Given the description of an element on the screen output the (x, y) to click on. 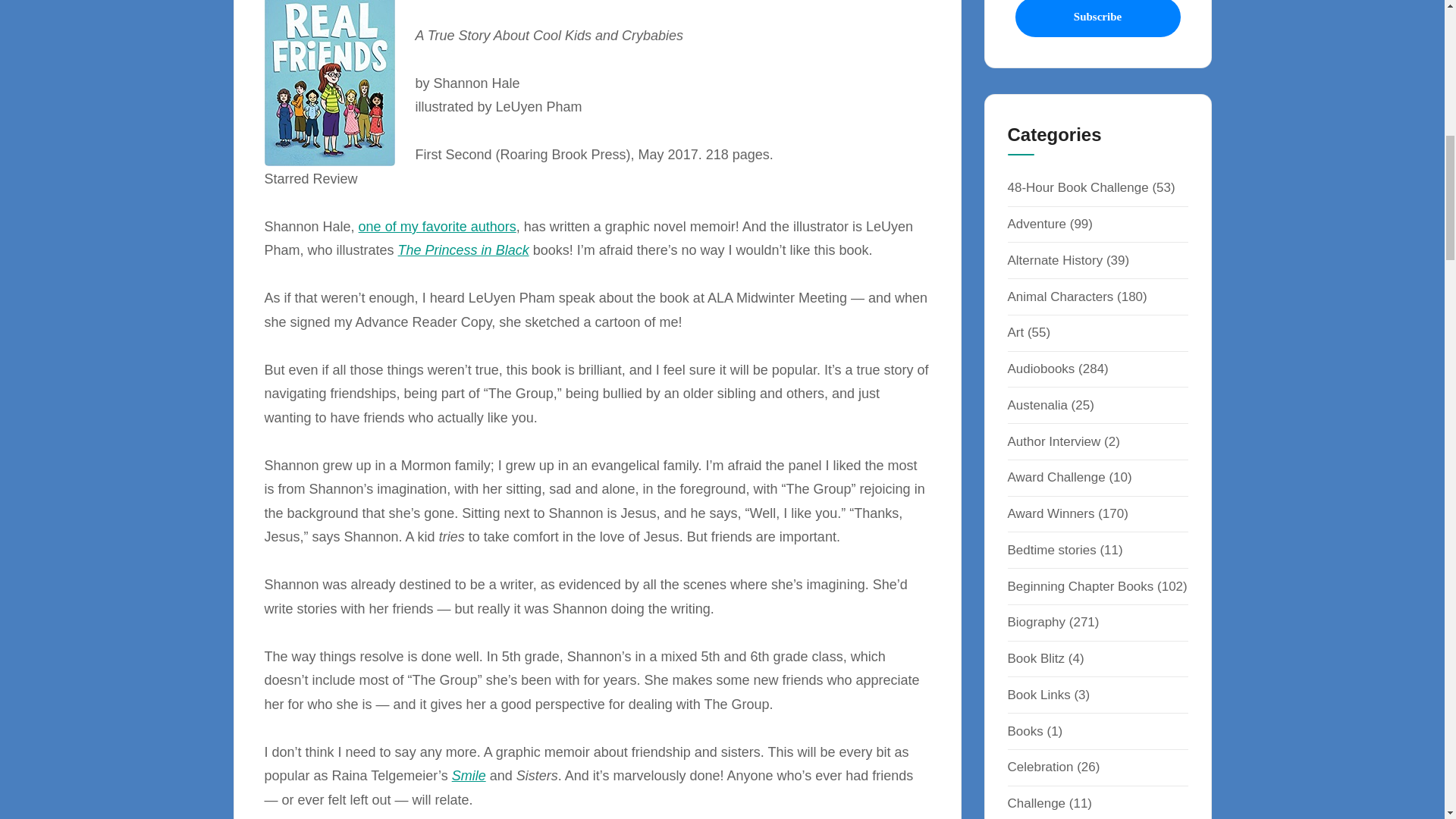
Subscribe (1096, 18)
The Princess in Black (463, 249)
48-Hour Book Challenge (1077, 187)
Smile (468, 775)
one of my favorite authors (437, 226)
Adventure (1036, 223)
Subscribe (1096, 18)
Animal Characters (1060, 296)
Alternate History (1054, 260)
